Given the description of an element on the screen output the (x, y) to click on. 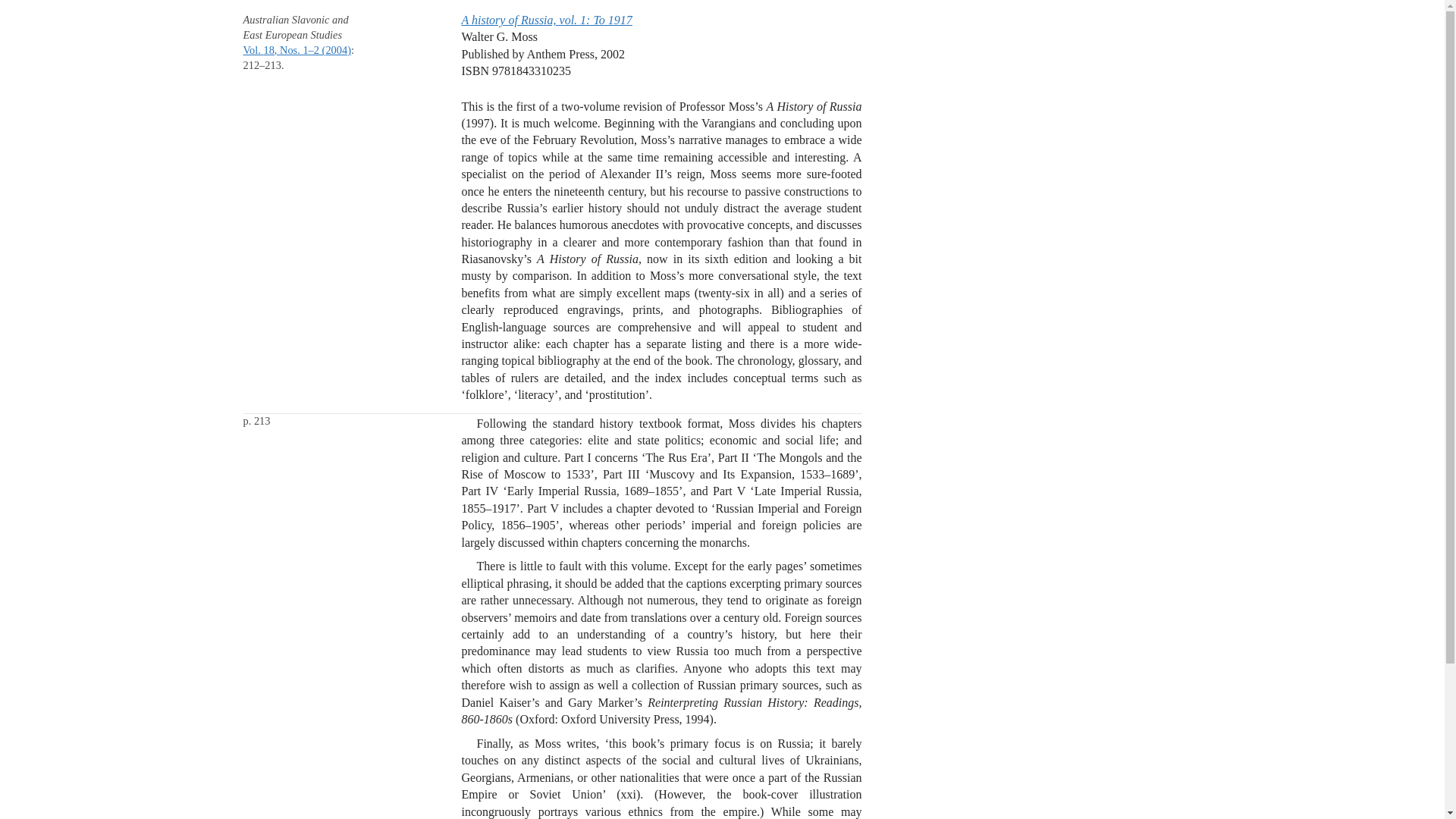
A history of Russia, vol. 1: To 1917 Element type: text (546, 19)
